Given the description of an element on the screen output the (x, y) to click on. 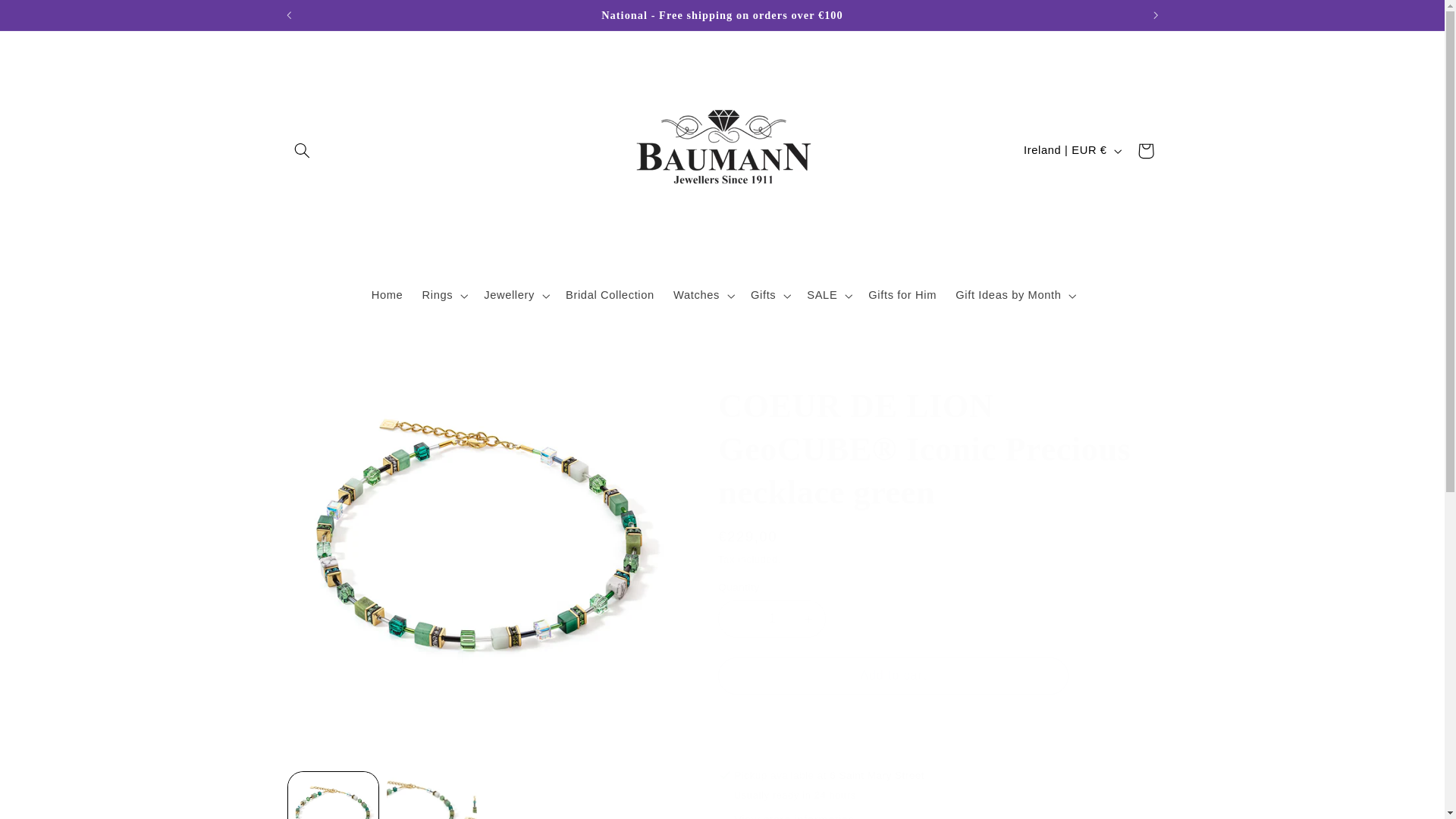
Skip to content (48, 18)
1 (771, 618)
